Given the description of an element on the screen output the (x, y) to click on. 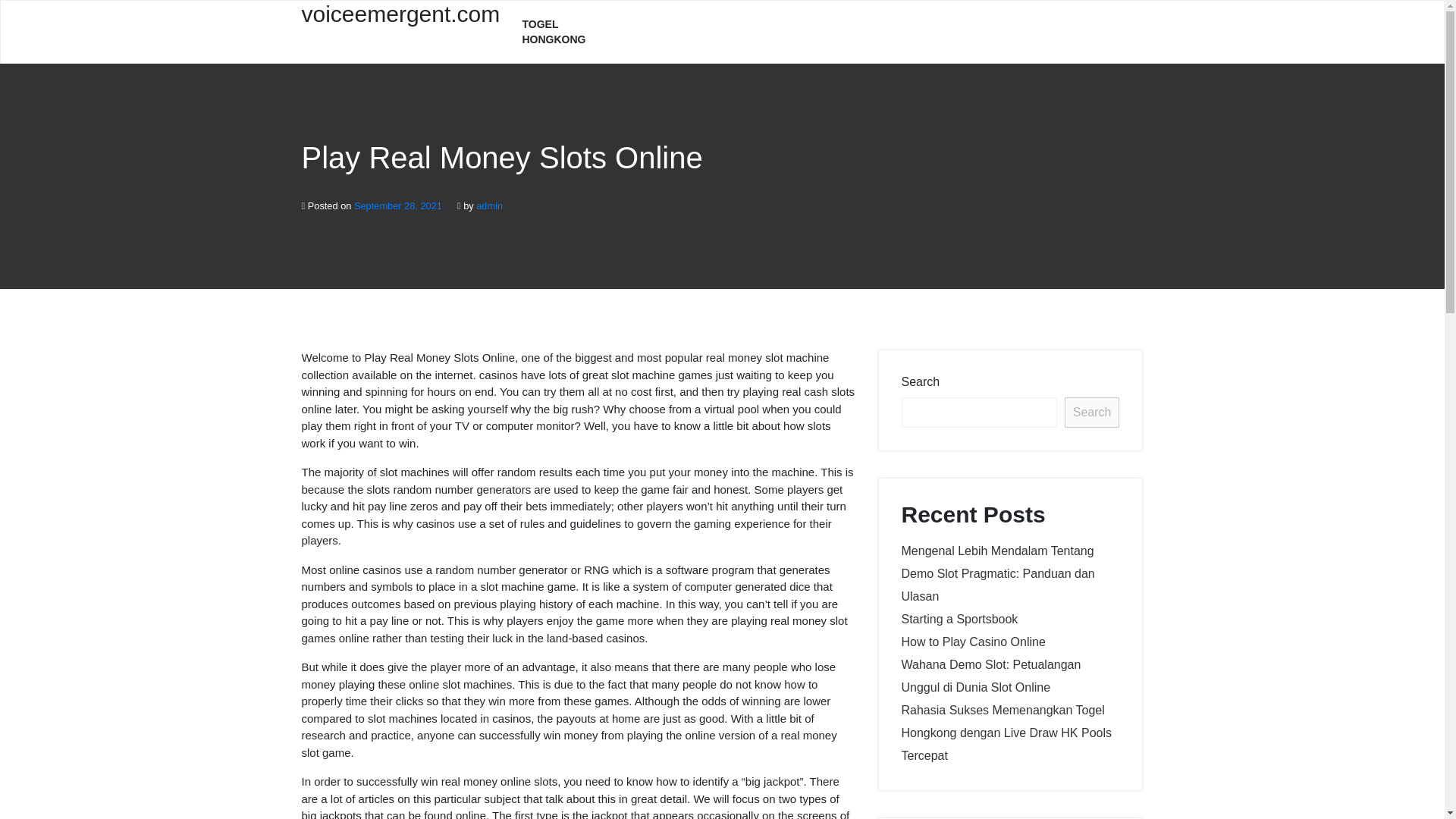
How to Play Casino Online (973, 641)
Togel Hongkong (569, 31)
voiceemergent.com (400, 22)
TOGEL HONGKONG (569, 31)
Wahana Demo Slot: Petualangan Unggul di Dunia Slot Online (990, 675)
September 28, 2021 (397, 205)
Search (1091, 412)
Starting a Sportsbook (959, 618)
admin (489, 205)
